Given the description of an element on the screen output the (x, y) to click on. 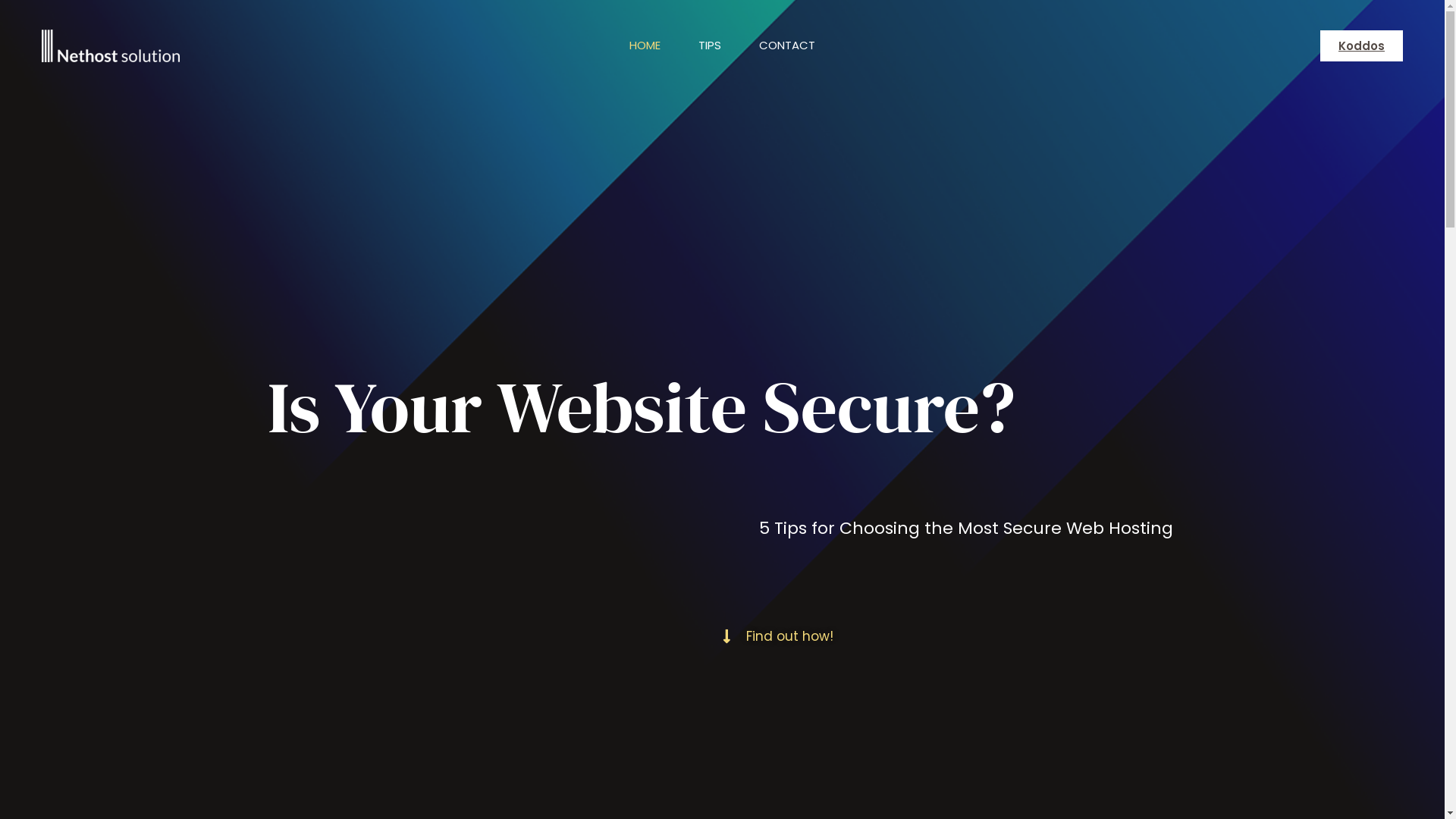
Koddos Element type: text (1361, 45)
HOME Element type: text (644, 45)
Find out how! Element type: text (776, 636)
TIPS Element type: text (709, 45)
CONTACT Element type: text (787, 45)
